Given the description of an element on the screen output the (x, y) to click on. 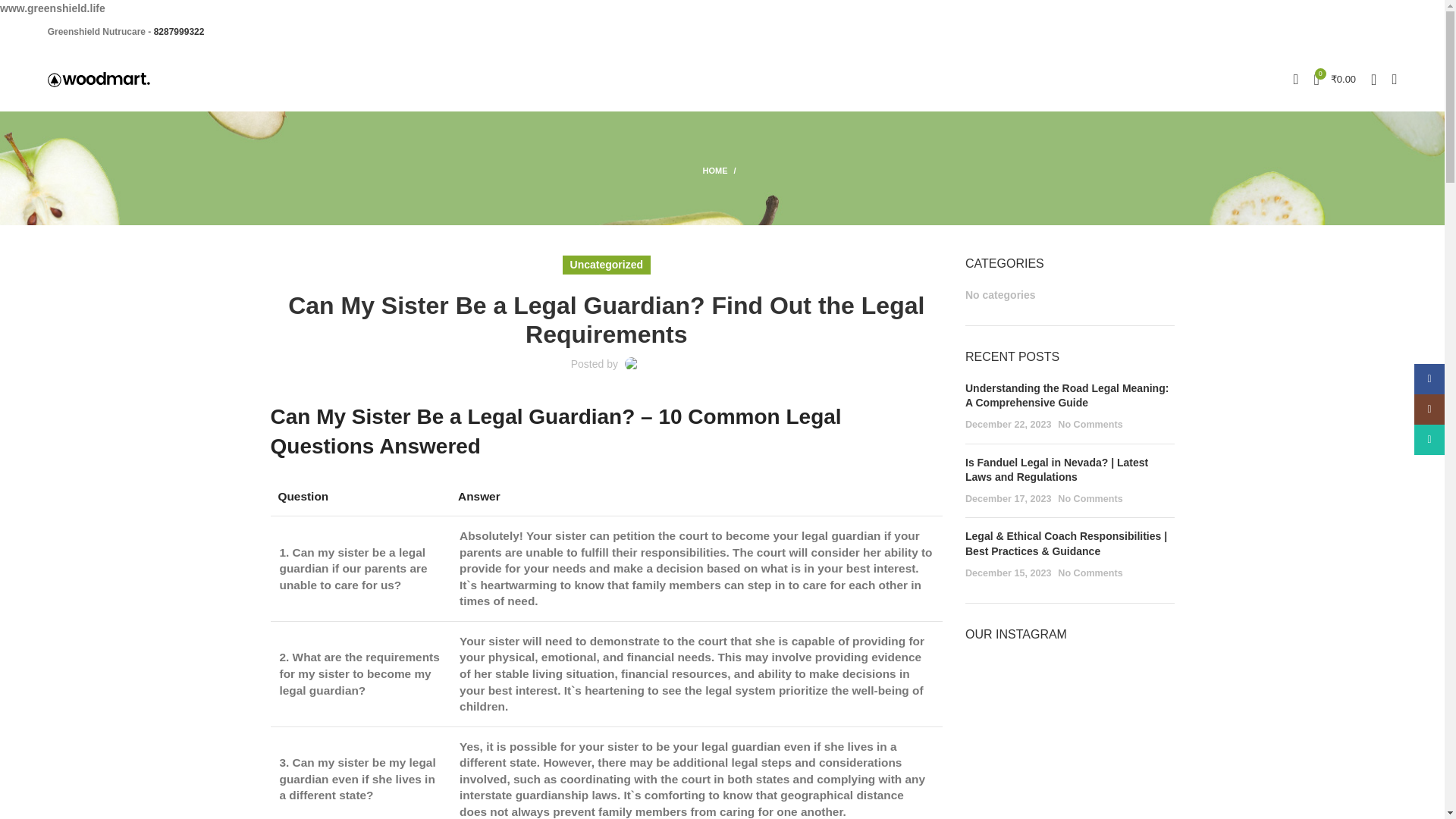
No Comments (1090, 424)
Search (1394, 79)
My account (1295, 79)
Understanding the Road Legal Meaning: A Comprehensive Guide (1067, 395)
HOME (721, 170)
No Comments (1090, 498)
Shopping cart (1334, 79)
8287999322 (179, 31)
My Wishlist (1373, 79)
No Comments (1090, 573)
